Given the description of an element on the screen output the (x, y) to click on. 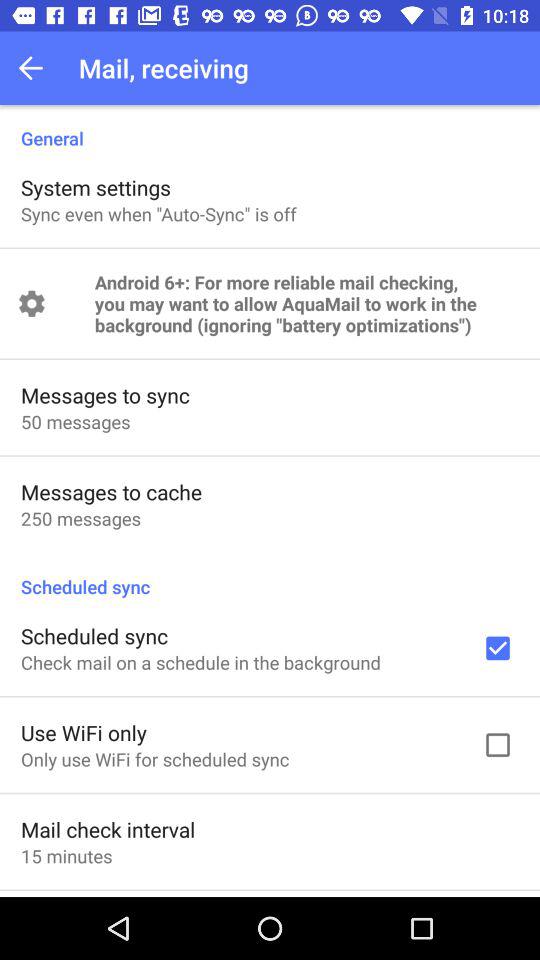
tap item below mail check interval item (66, 855)
